Given the description of an element on the screen output the (x, y) to click on. 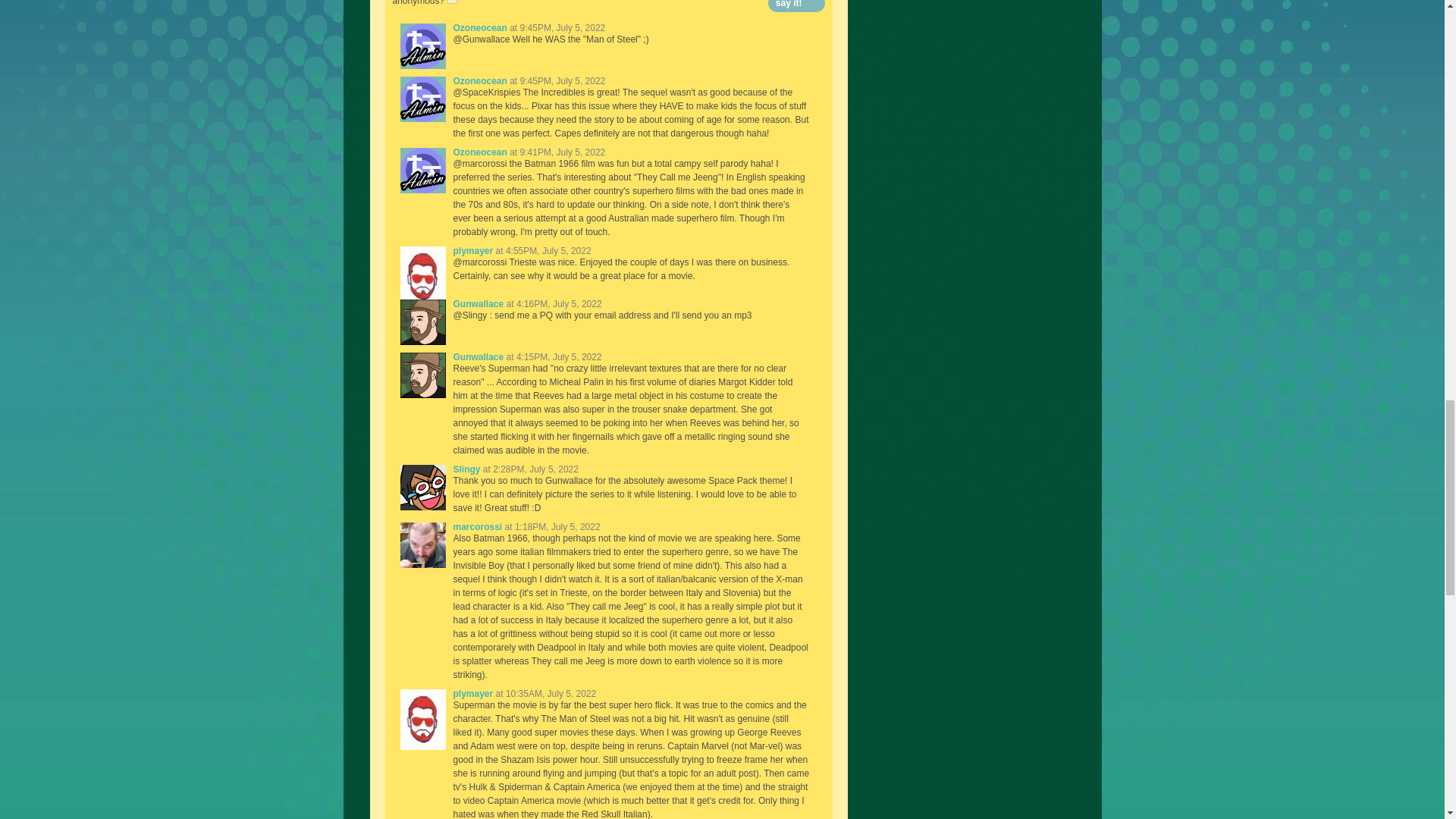
say it! (796, 6)
1 (451, 2)
